Given the description of an element on the screen output the (x, y) to click on. 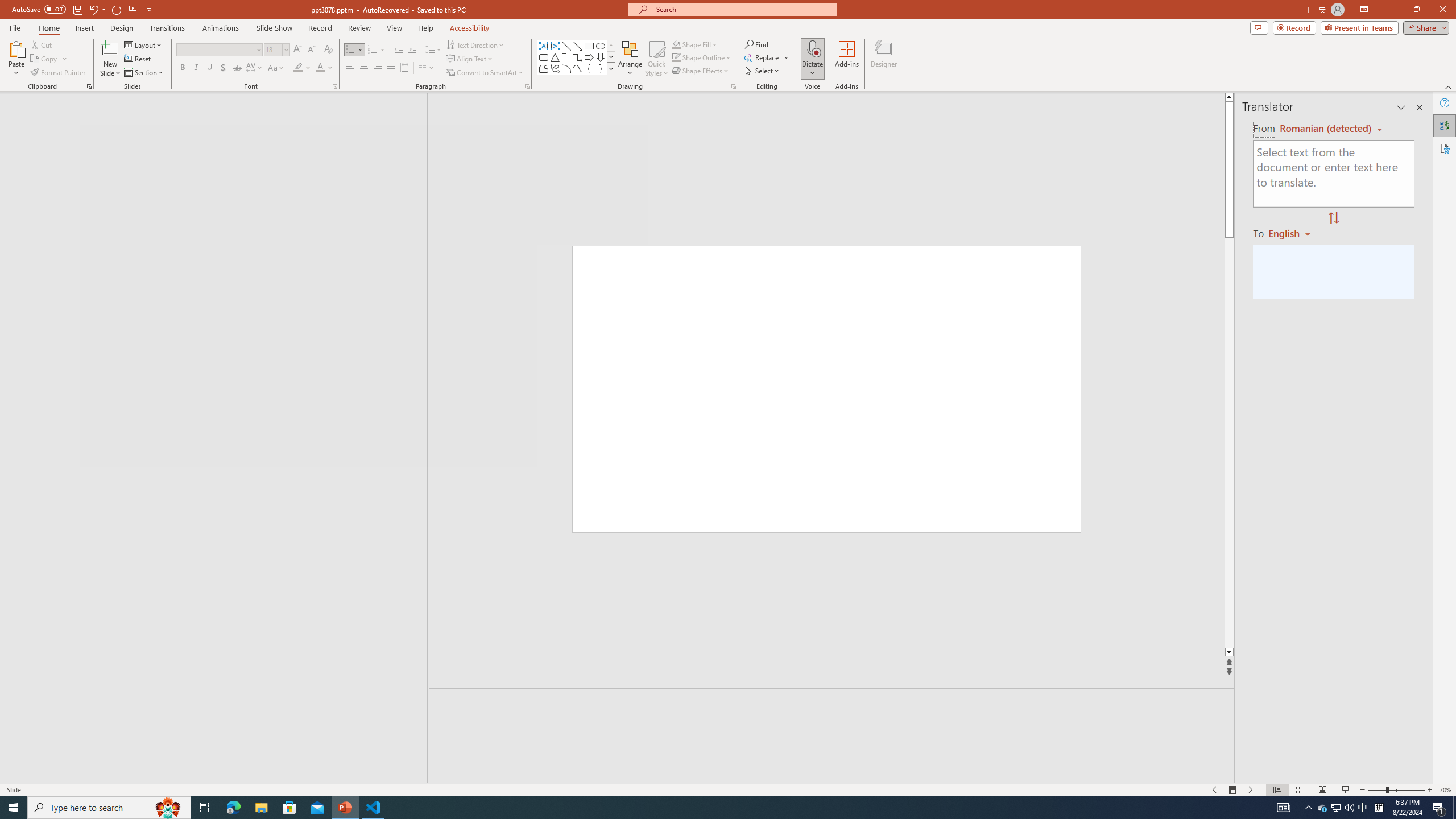
Romanian (detected) (1323, 128)
Menu On (1232, 790)
